Given the description of an element on the screen output the (x, y) to click on. 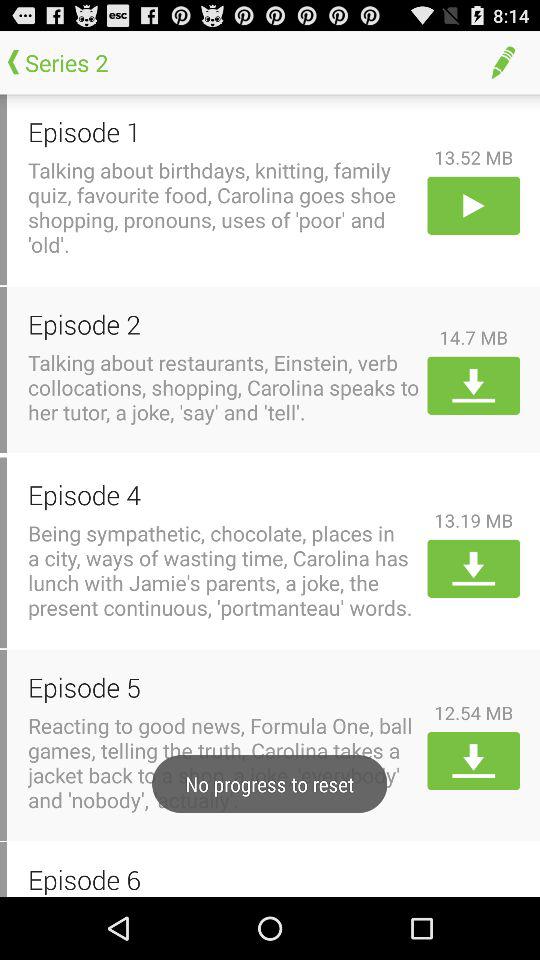
tap episode 4 (224, 494)
